Given the description of an element on the screen output the (x, y) to click on. 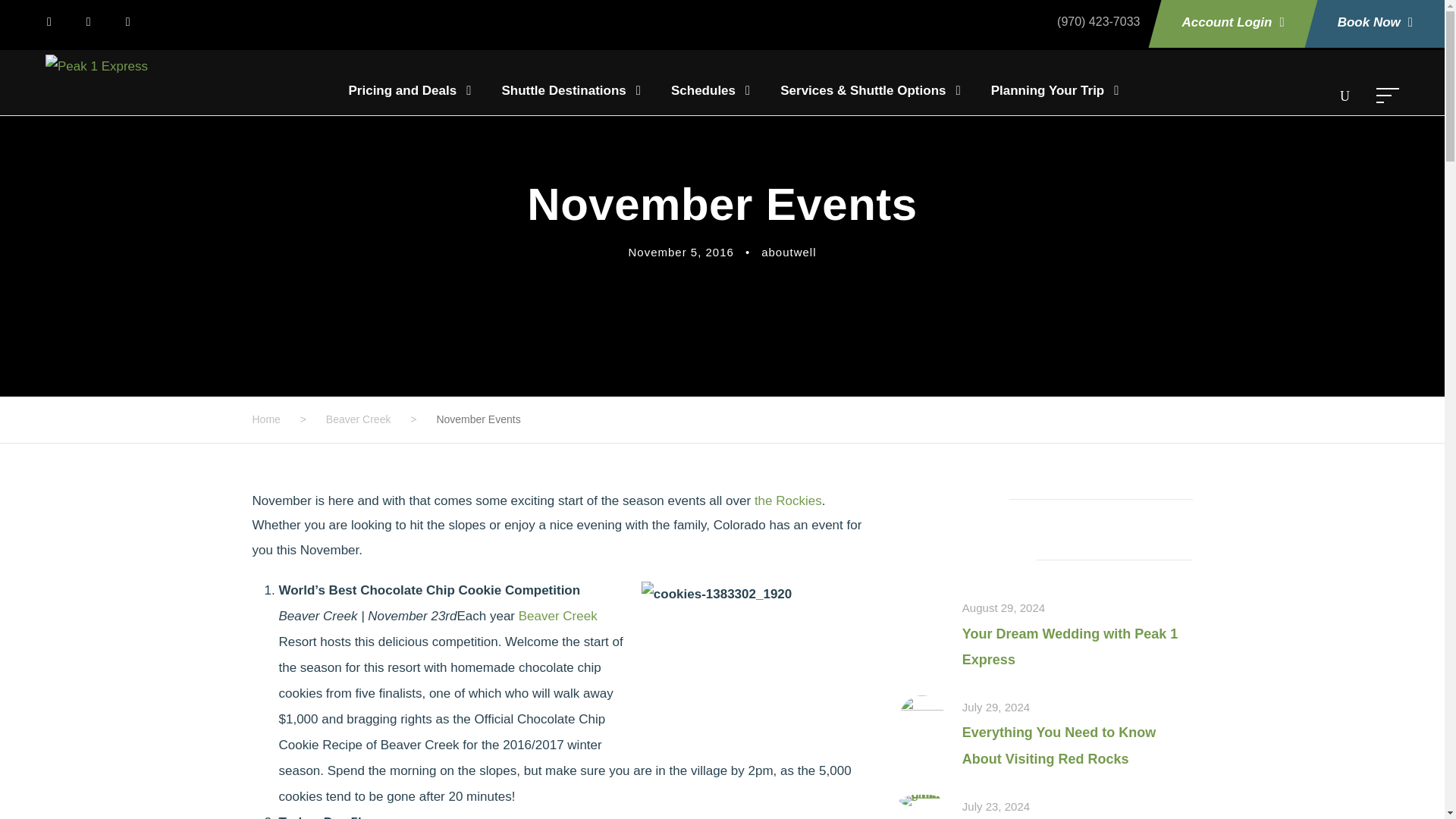
facebook (56, 21)
Go to the Beaver Creek category archives. (358, 419)
youtube (95, 21)
2018 logo (96, 66)
Go to Peak 1 Express. (265, 419)
Posts by aboutwell (788, 251)
instagram (136, 21)
